Given the description of an element on the screen output the (x, y) to click on. 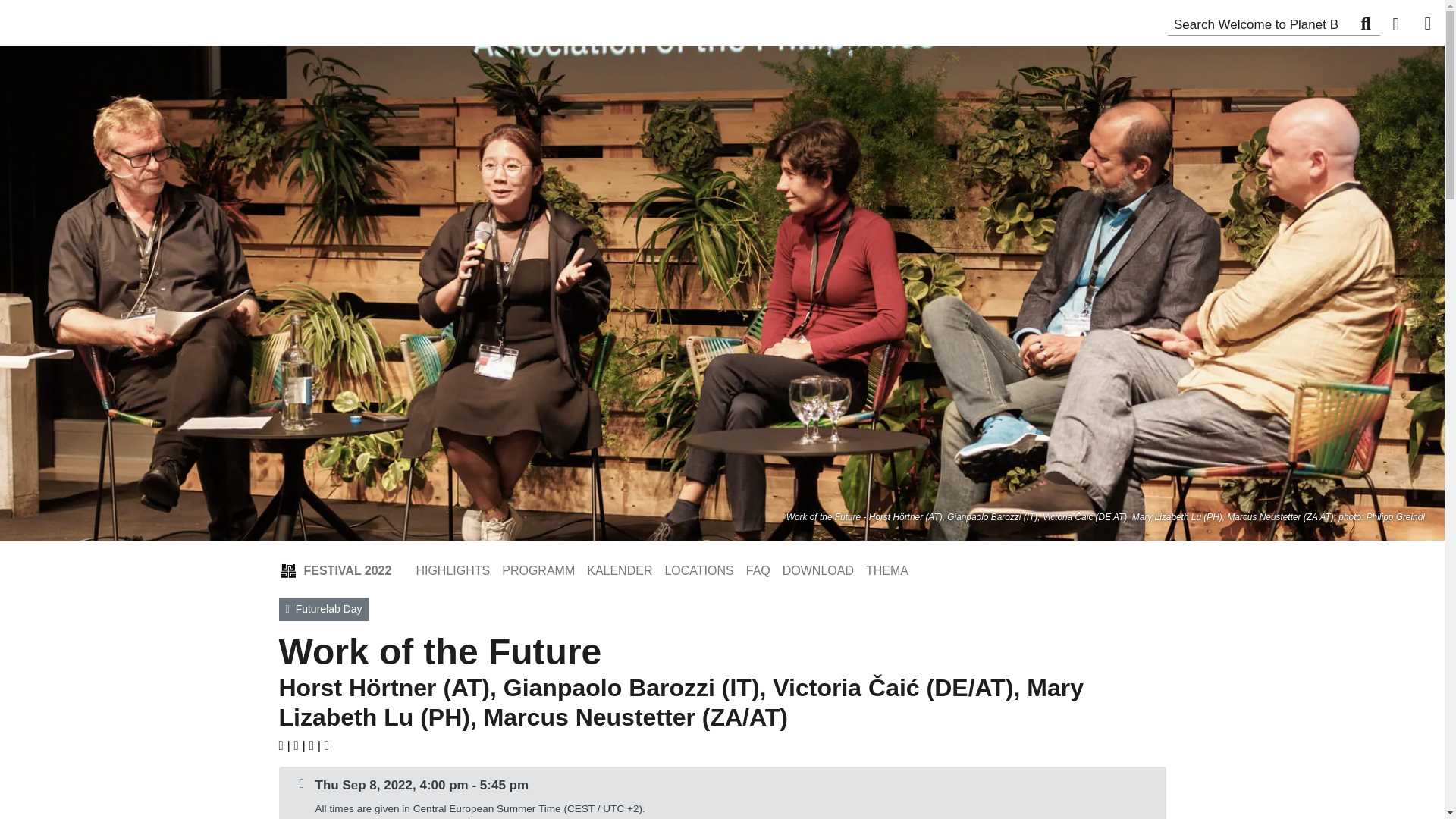
Ars Electronica (106, 20)
Futurelab Day (324, 608)
